Given the description of an element on the screen output the (x, y) to click on. 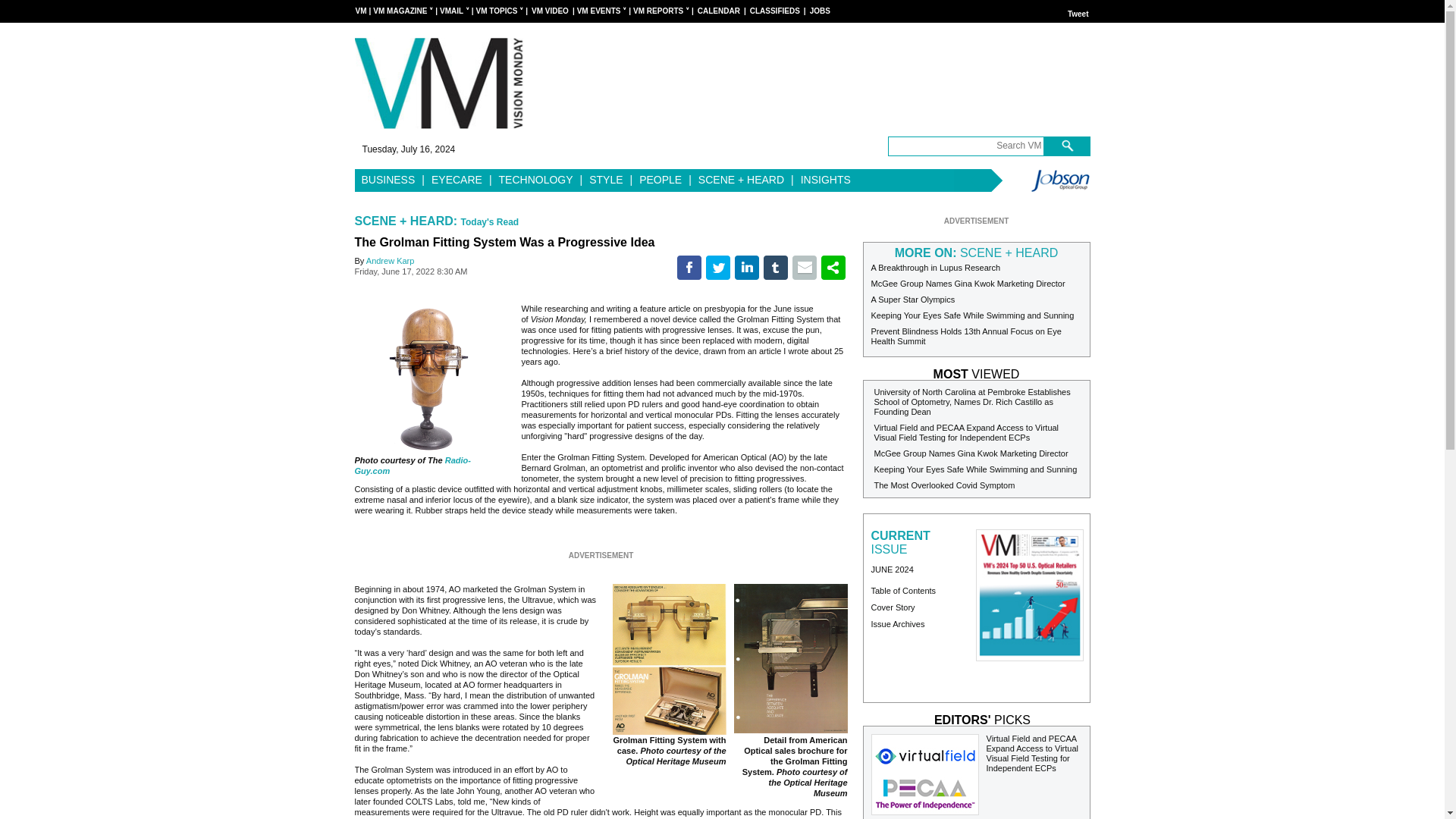
VM VIDEO (549, 11)
Tweet (1077, 14)
CALENDAR (718, 11)
CLASSIFIEDS (775, 11)
JOBS (819, 11)
